Given the description of an element on the screen output the (x, y) to click on. 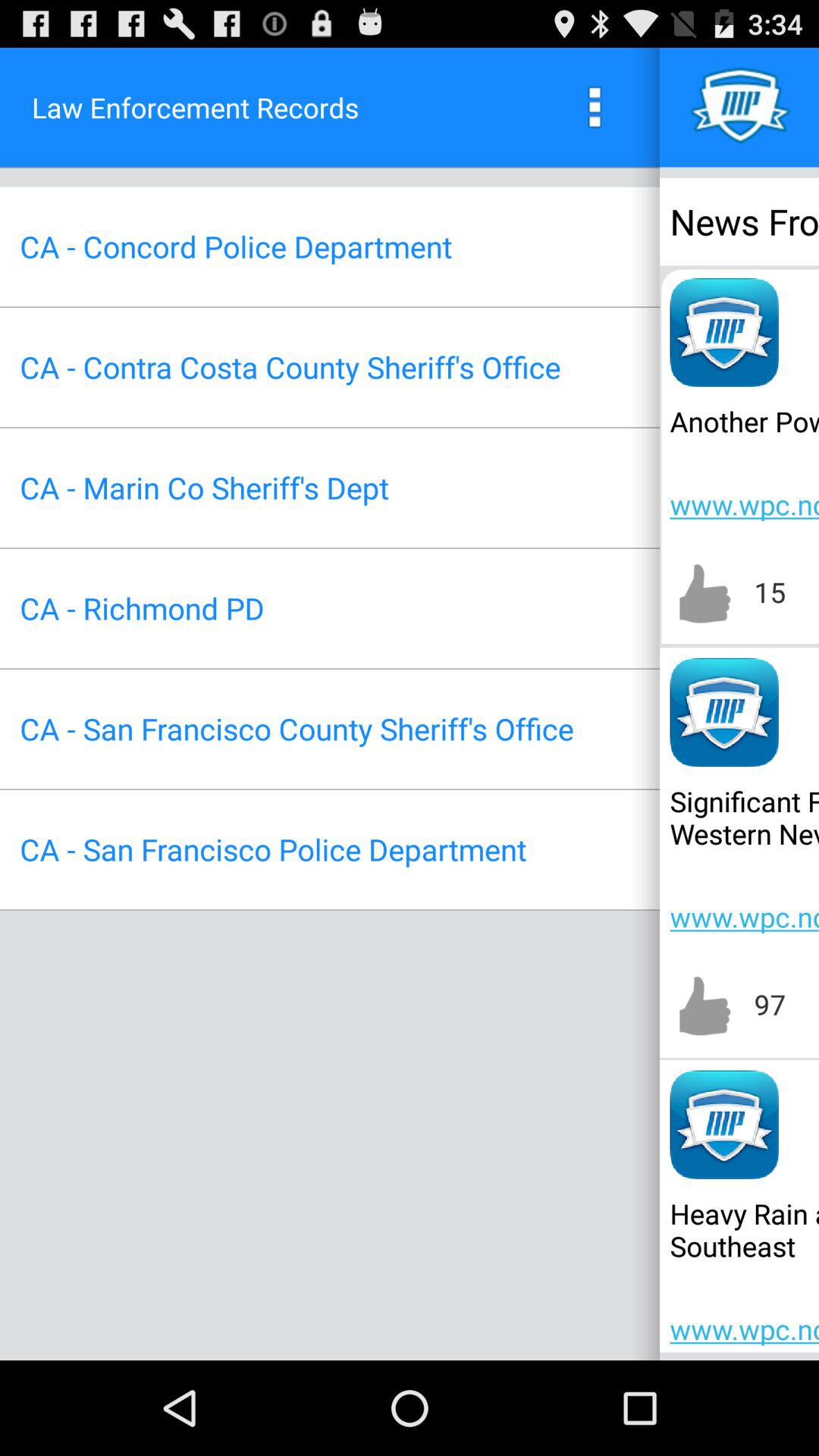
launch icon above the ca marin co item (289, 366)
